Given the description of an element on the screen output the (x, y) to click on. 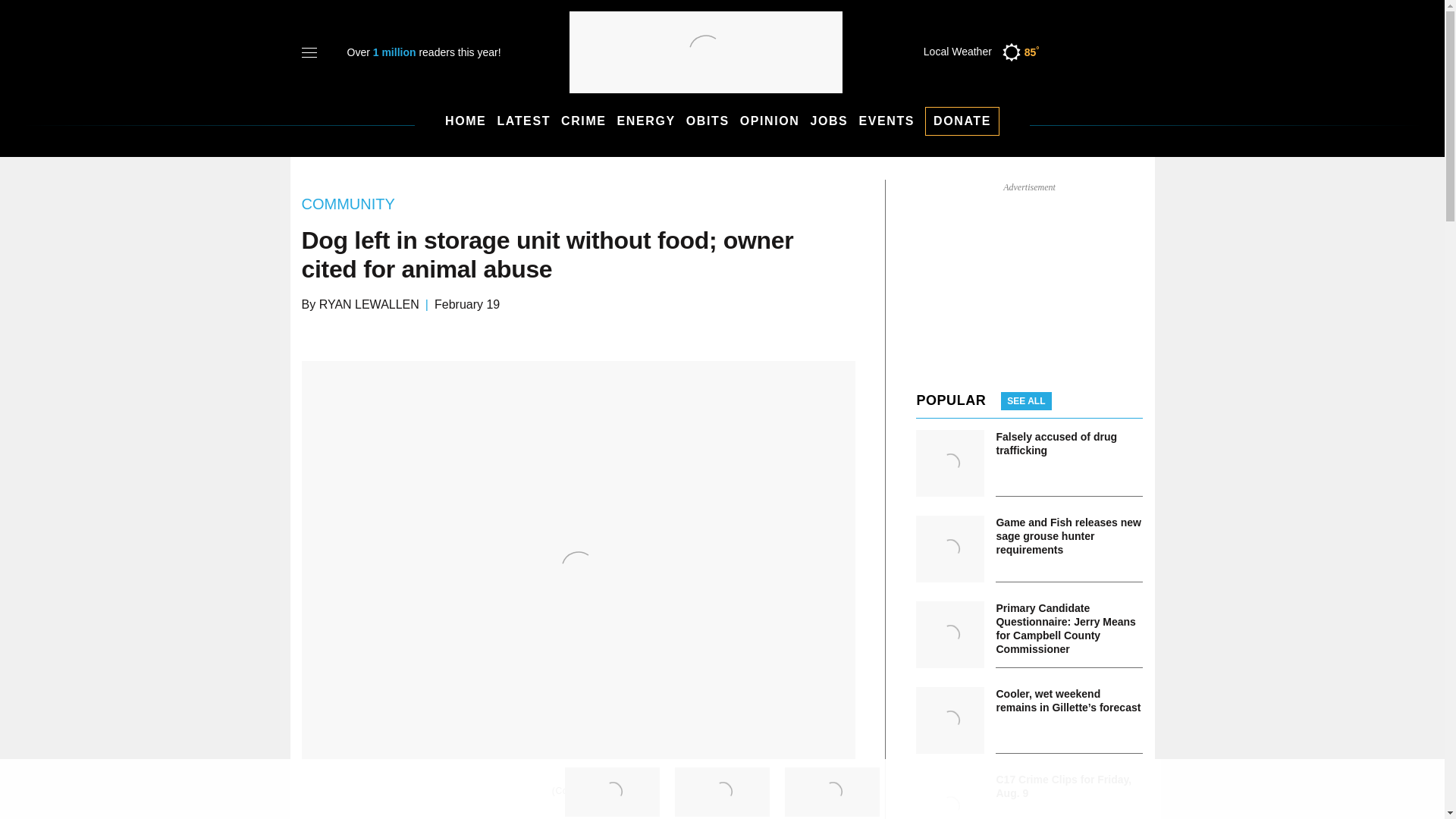
Opinion (769, 121)
Energy (646, 121)
Events (886, 121)
Home (465, 121)
1 million (395, 51)
Jobs (828, 121)
Crime (583, 121)
Latest (523, 121)
Obits (707, 121)
